Given the description of an element on the screen output the (x, y) to click on. 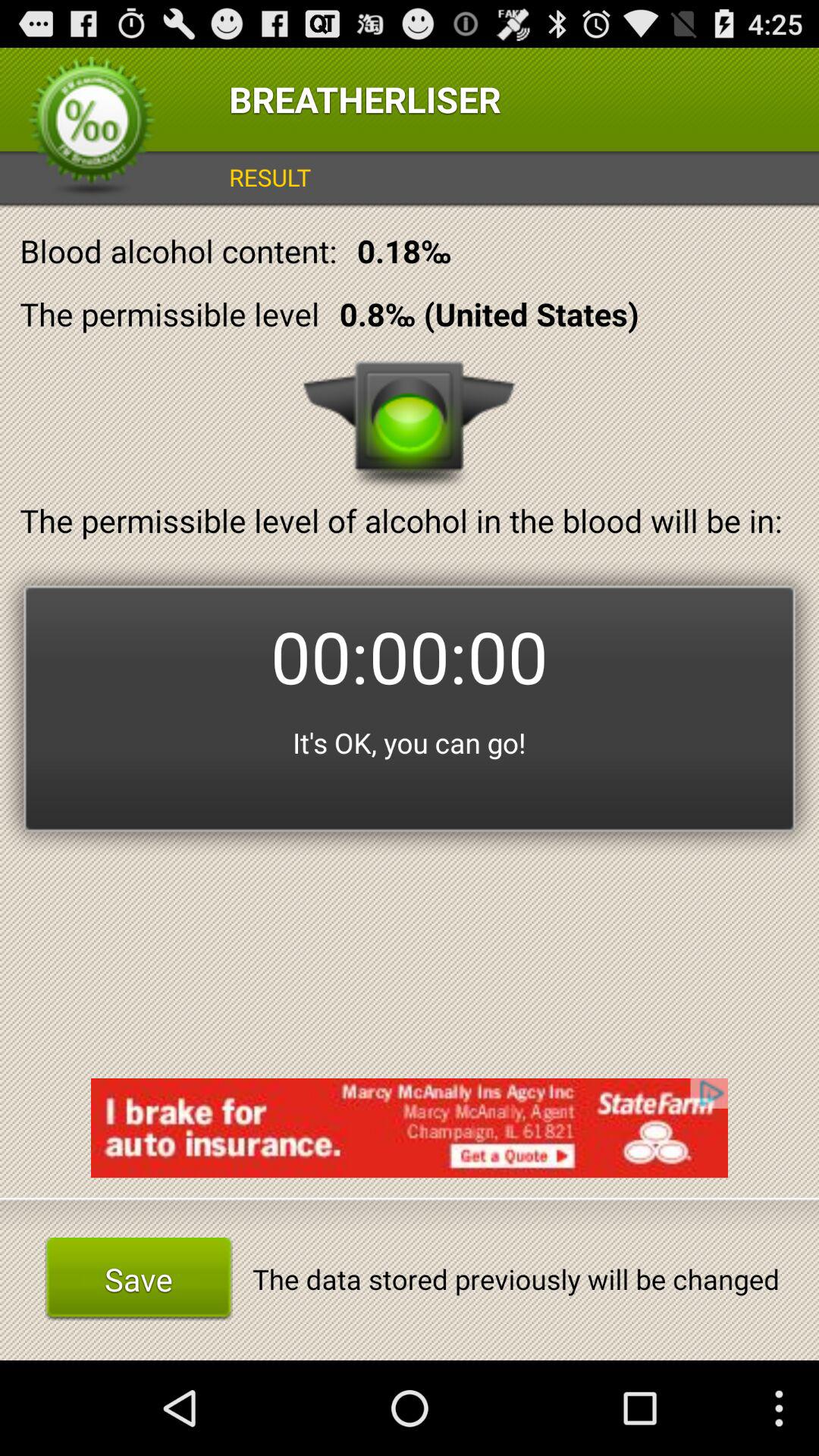
flip until save (138, 1278)
